Given the description of an element on the screen output the (x, y) to click on. 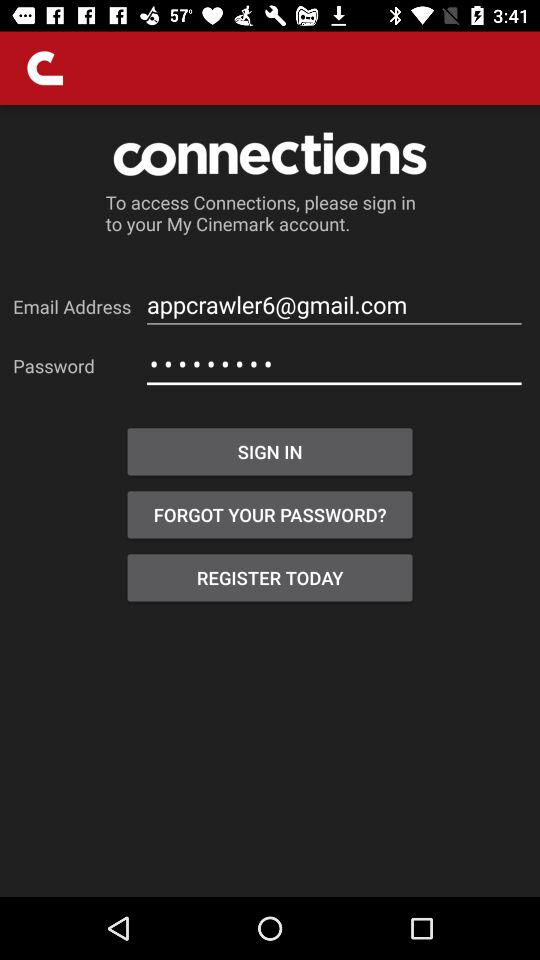
choose item below the appcrawler6@gmail.com (333, 364)
